Given the description of an element on the screen output the (x, y) to click on. 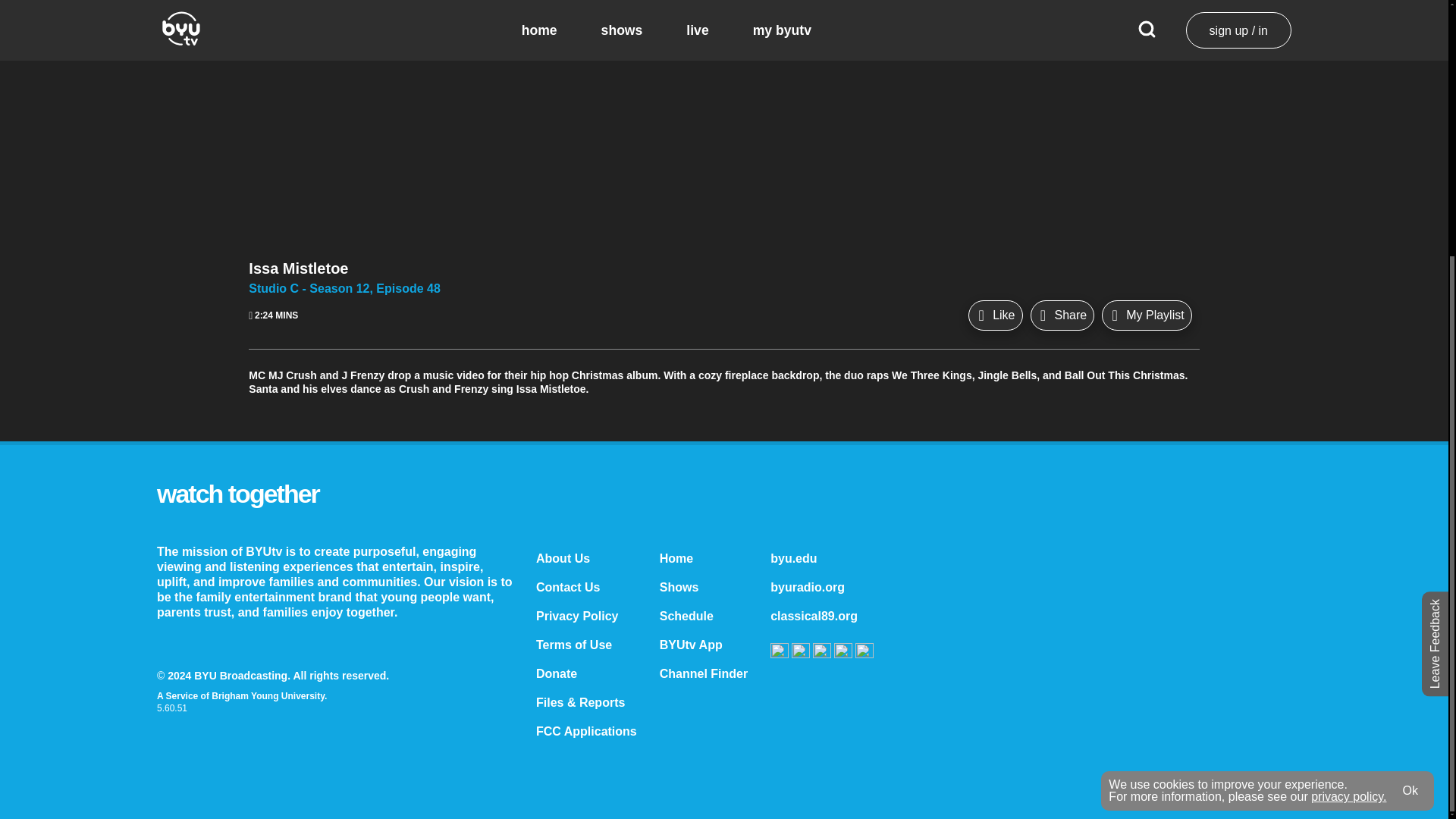
Play (723, 10)
byuradio.org (807, 586)
classical89.org (813, 615)
Terms of Use (573, 644)
Play (723, 10)
My Playlist (1146, 315)
BYUtv App (690, 644)
byu.edu (793, 558)
Share (1061, 315)
Shows (678, 586)
Schedule (686, 615)
Contact Us (567, 586)
Donate (555, 673)
Channel Finder (703, 673)
FCC Applications (586, 730)
